Given the description of an element on the screen output the (x, y) to click on. 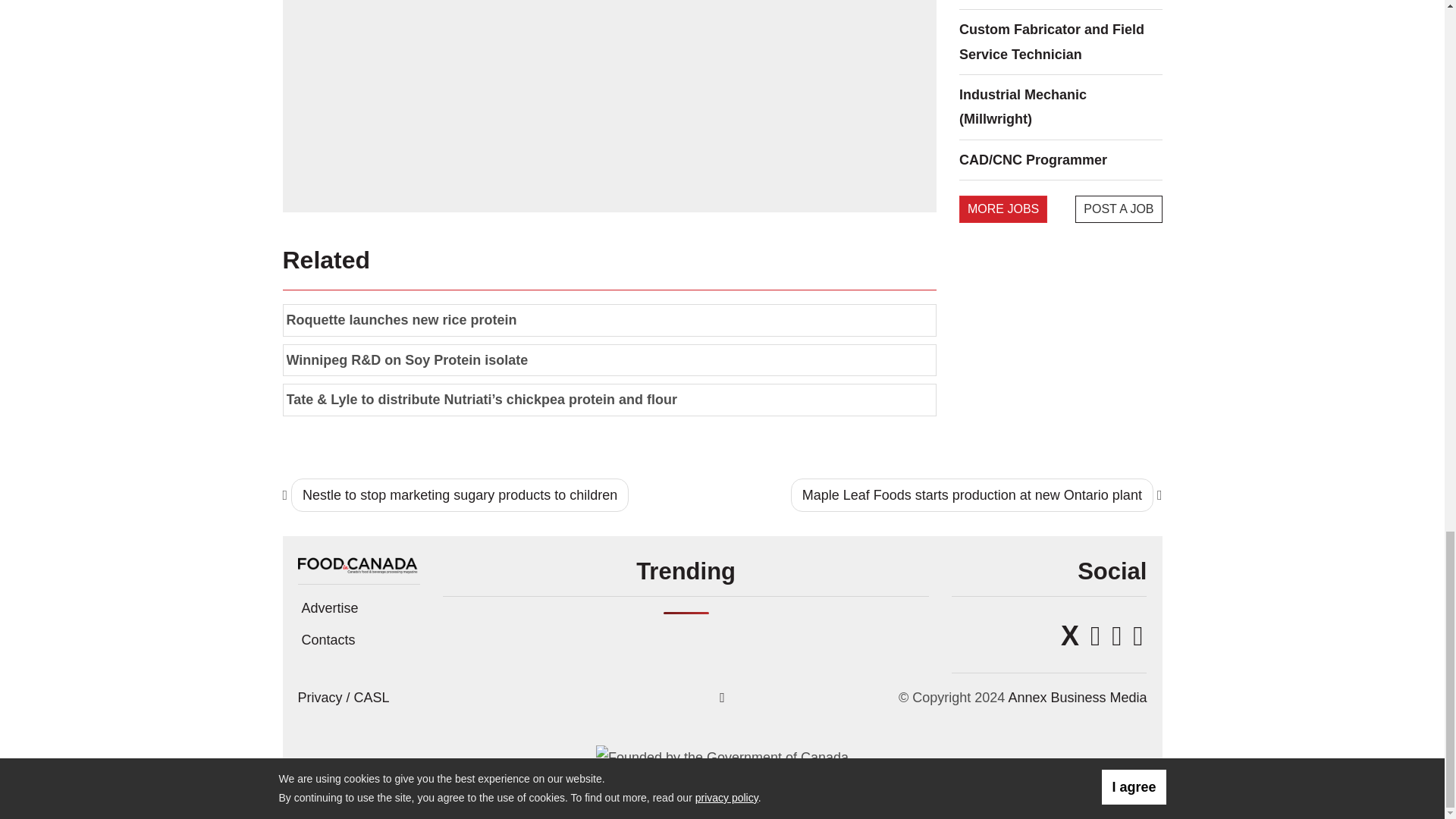
Food In Canada (358, 563)
Annex Business Media (1077, 697)
